Given the description of an element on the screen output the (x, y) to click on. 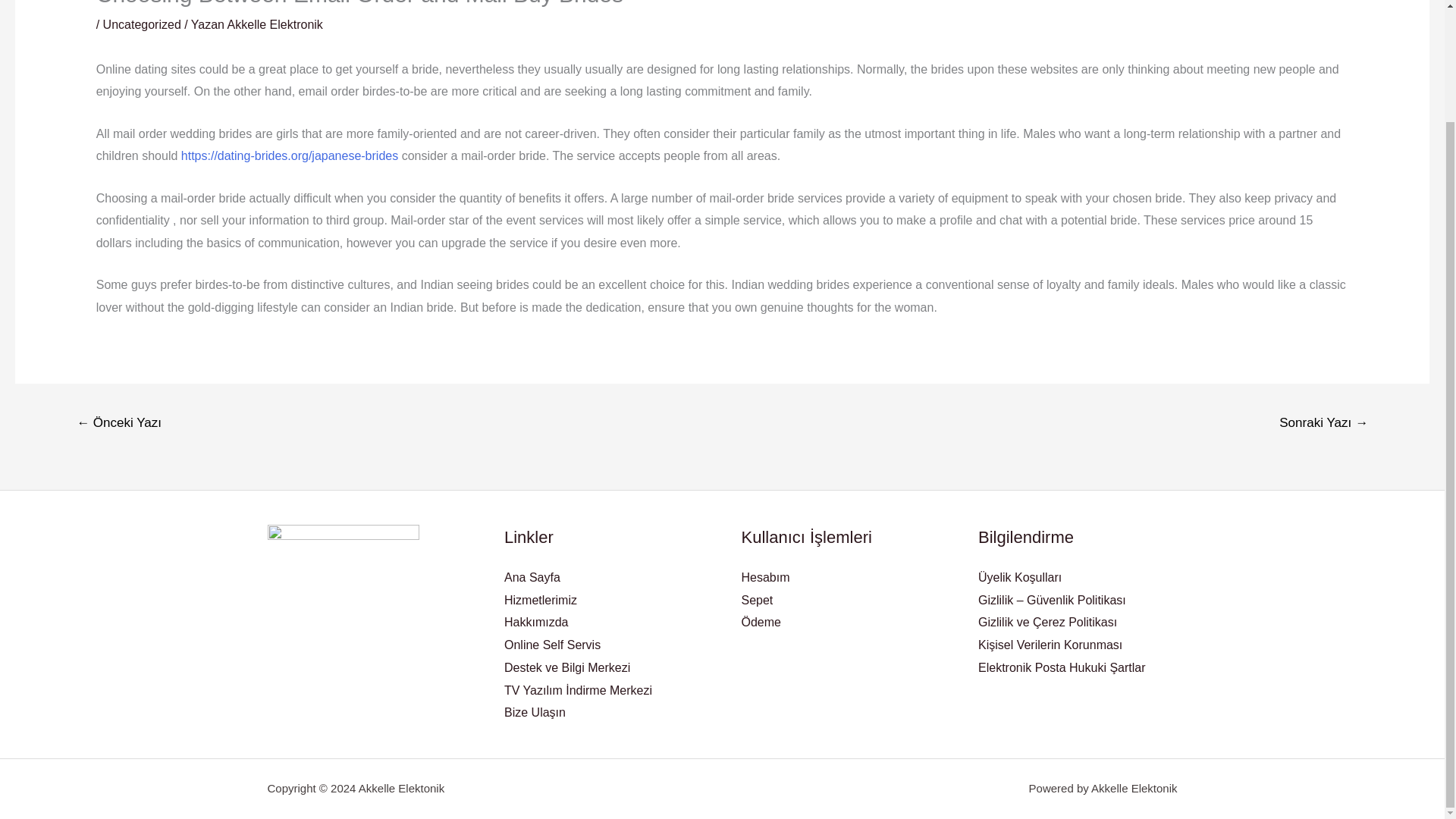
Uncategorized (141, 24)
Hizmetlerimiz (539, 599)
Sepet (757, 599)
Ana Sayfa (531, 576)
Destek ve Bilgi Merkezi (566, 667)
Online Self Servis (551, 644)
Akkelle Elektronik (275, 24)
